Given the description of an element on the screen output the (x, y) to click on. 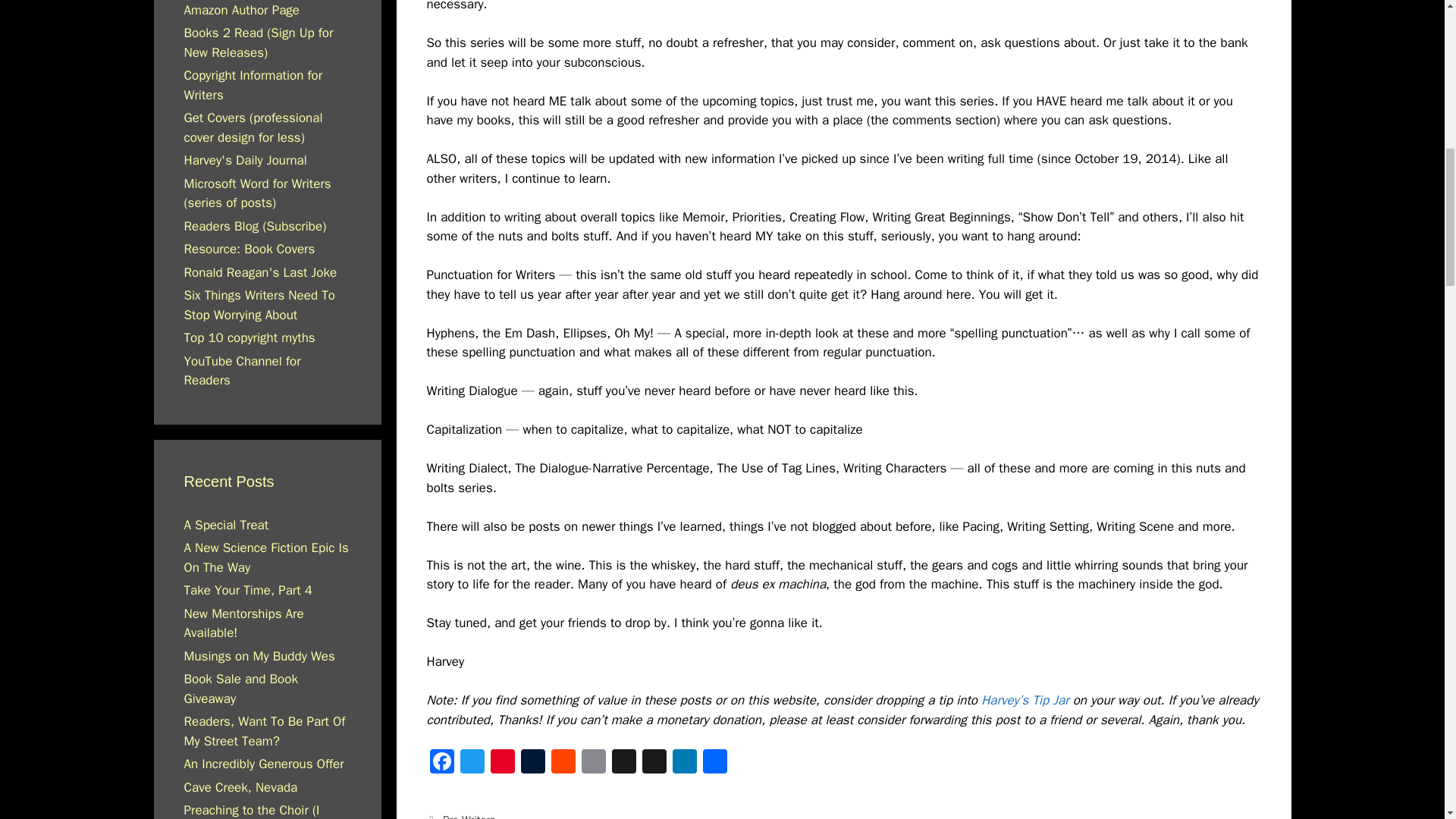
Tumblr (531, 763)
Share (713, 763)
Pinterest (501, 763)
Pinterest (501, 763)
Pro Writers (468, 816)
Reddit (562, 763)
MySpace (653, 763)
Twitter (471, 763)
LinkedIn (683, 763)
Facebook (441, 763)
